Given the description of an element on the screen output the (x, y) to click on. 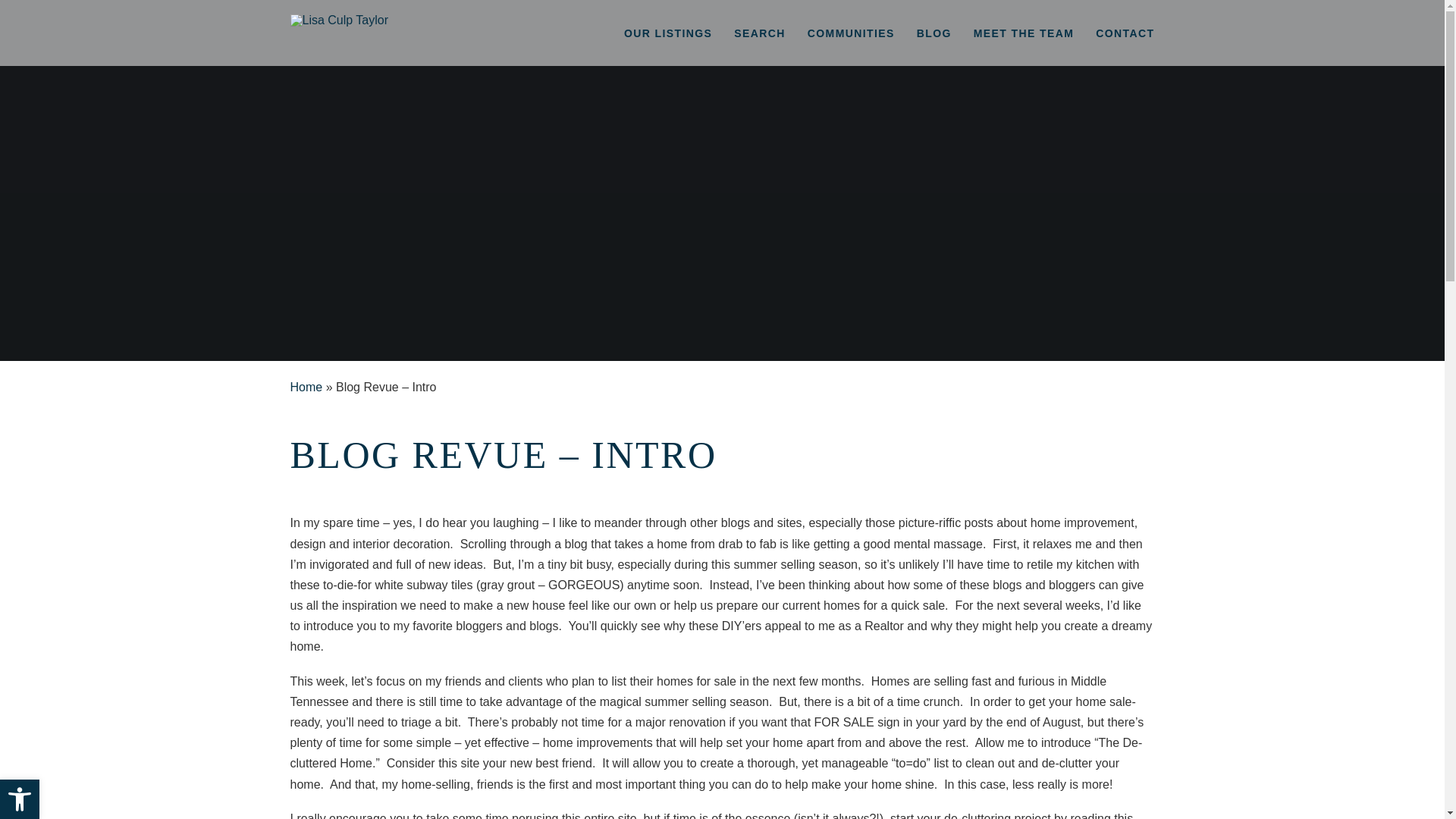
CONTACT (1125, 33)
BLOG (934, 33)
MEET THE TEAM (1024, 33)
COMMUNITIES (851, 33)
Accessibility Tools (19, 799)
Home (305, 386)
SEARCH (759, 33)
OUR LISTINGS (667, 33)
Accessibility Tools (19, 799)
